Given the description of an element on the screen output the (x, y) to click on. 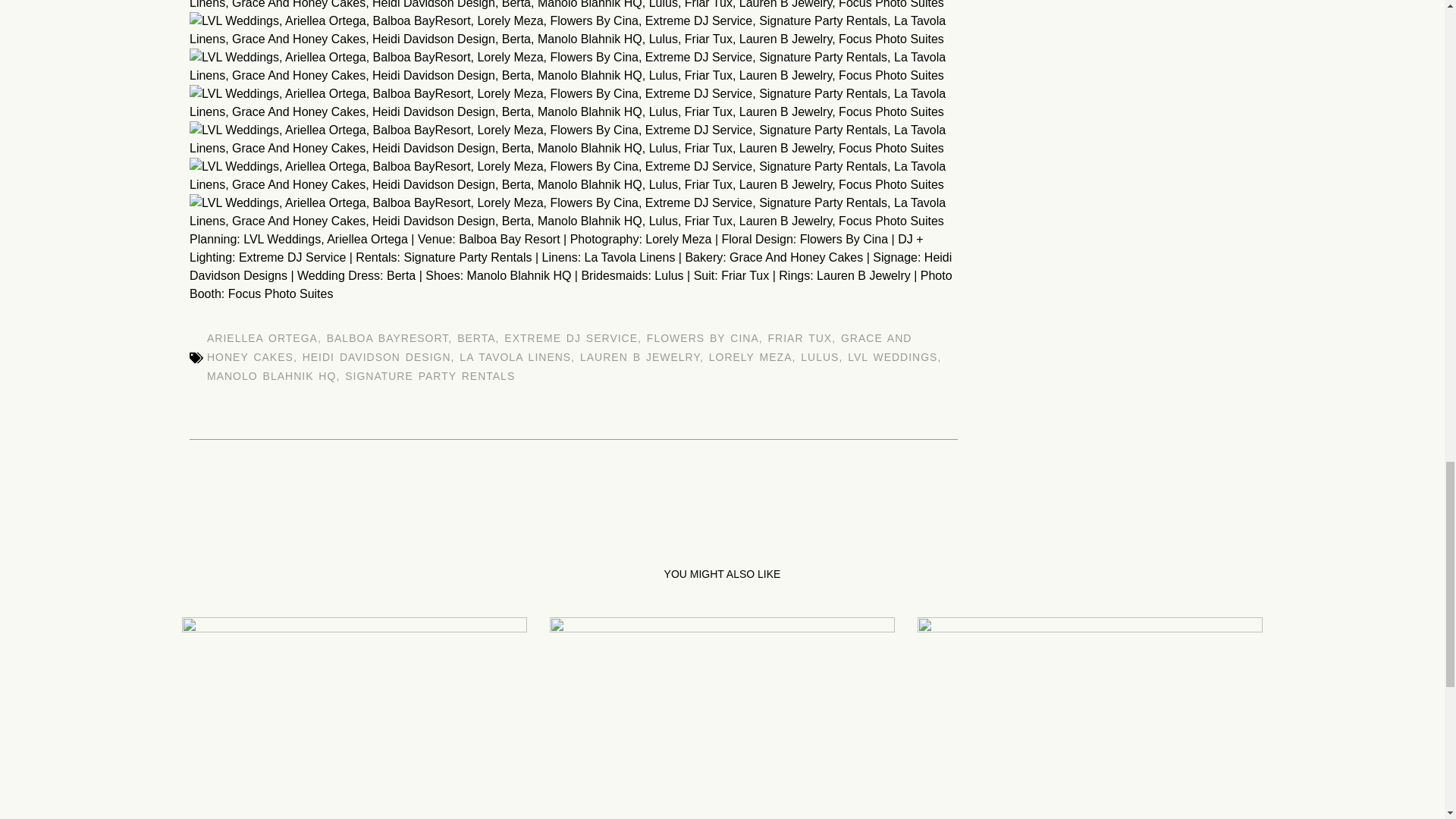
Signature Party Rentals (467, 256)
Lulus (667, 275)
Lauren B Jewelry (863, 275)
Ariellea Ortega (366, 238)
Heidi Davidson Designs (570, 265)
BERTA (476, 337)
Friar Tux (744, 275)
BALBOA BAYRESORT (387, 337)
Flowers By Cina (843, 238)
Lorely Meza (678, 238)
